Given the description of an element on the screen output the (x, y) to click on. 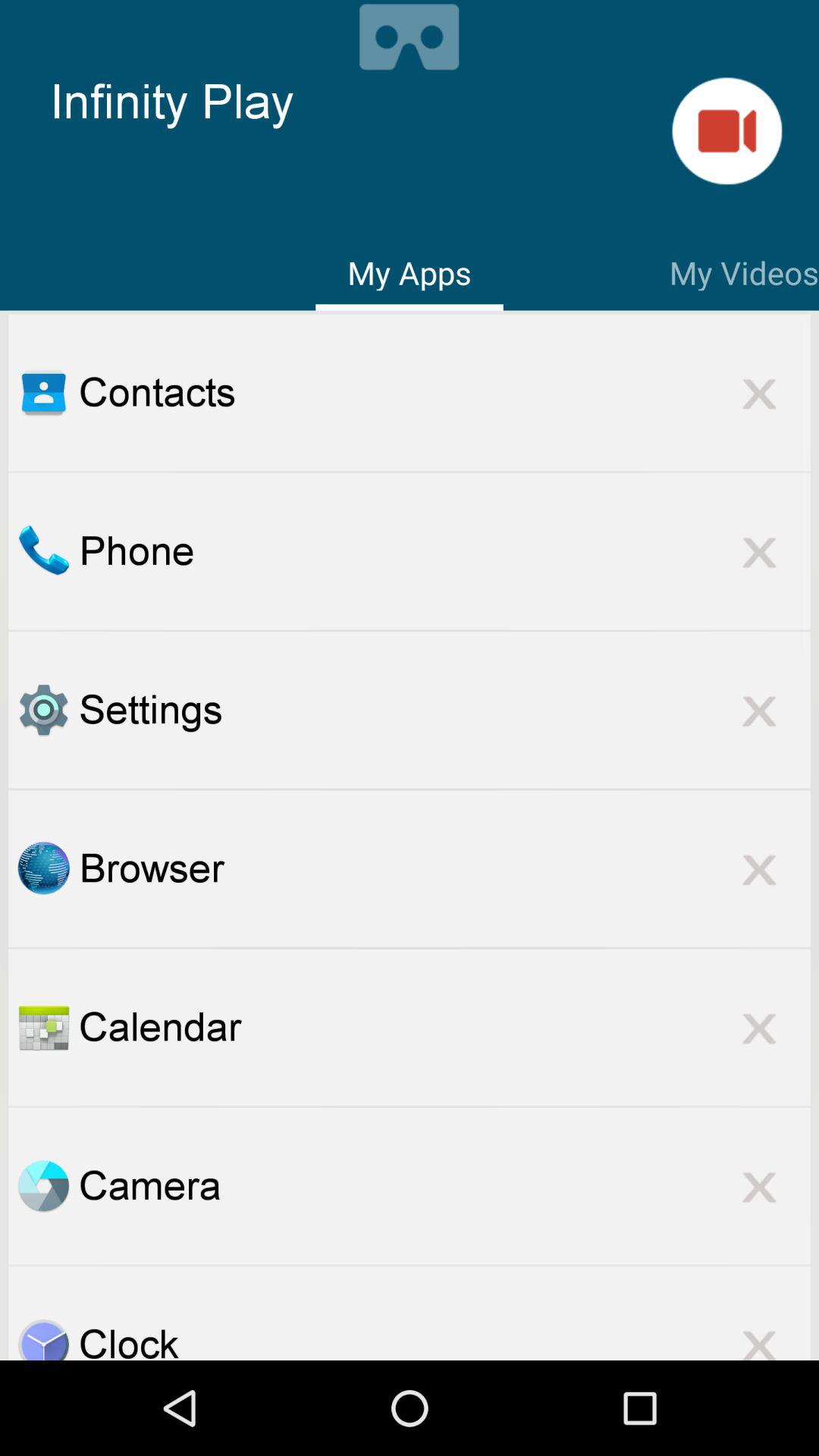
flip to the settings item (444, 709)
